Given the description of an element on the screen output the (x, y) to click on. 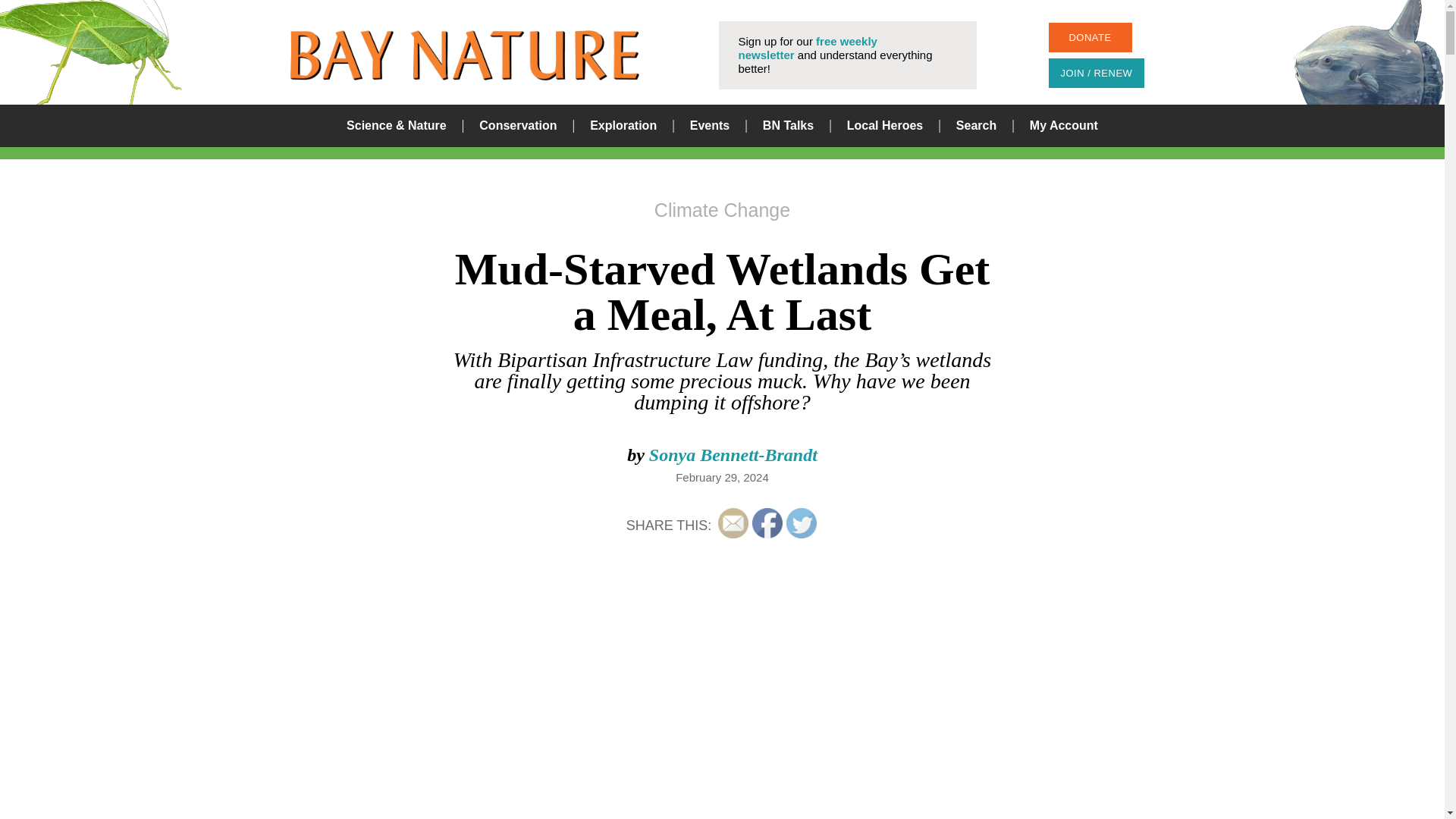
DONATE (1089, 37)
Follow by Email (732, 522)
Facebook (767, 522)
Events (709, 125)
Posts by Sonya Bennett-Brandt (732, 455)
Search (879, 409)
Sonya Bennett-Brandt (732, 455)
Twitter (801, 522)
Local Heroes (885, 125)
Exploration (622, 125)
